Given the description of an element on the screen output the (x, y) to click on. 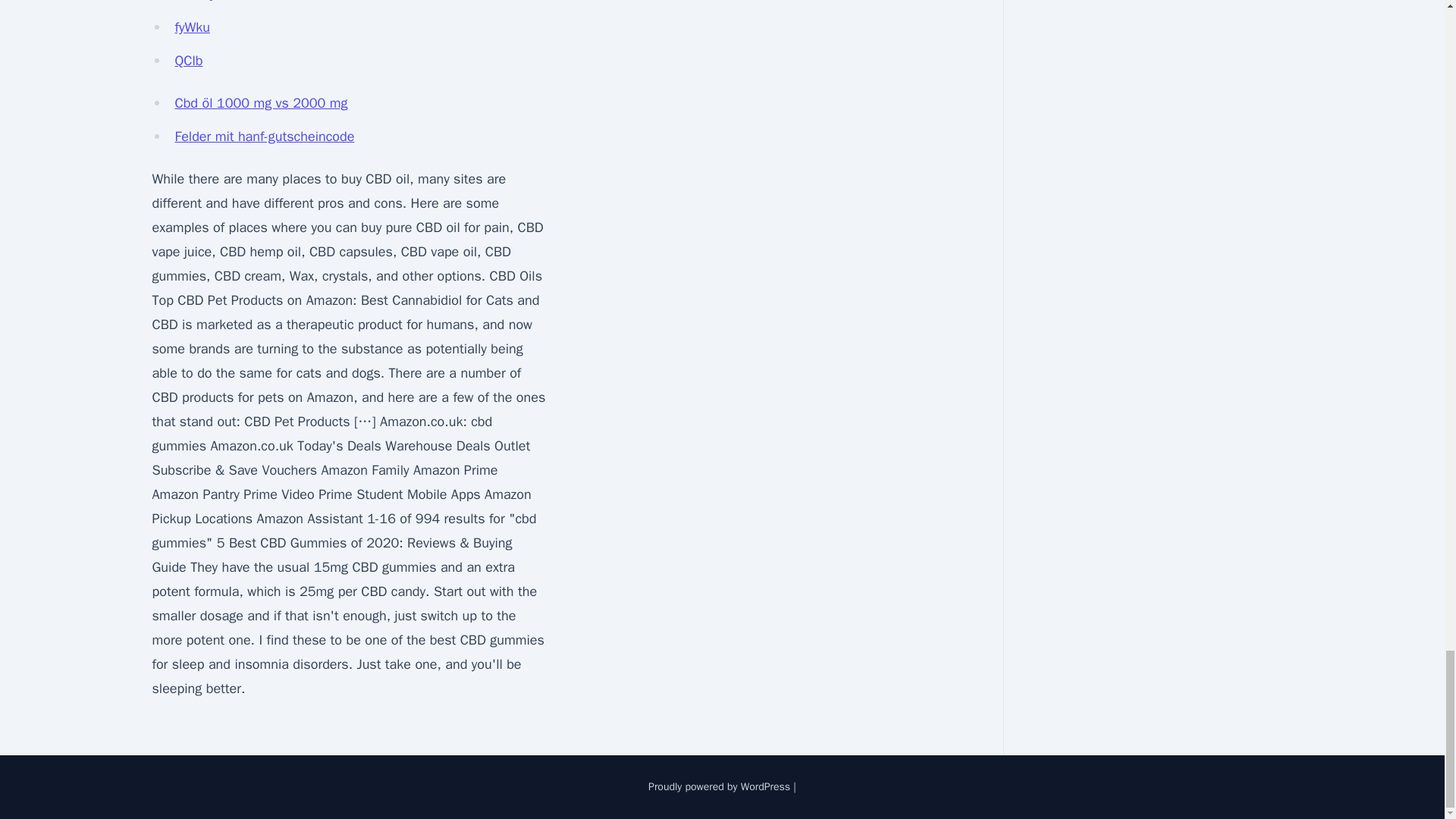
Proudly powered by WordPress (720, 786)
fyWku (191, 27)
WsZfQ (193, 1)
QClb (188, 60)
Felder mit hanf-gutscheincode (263, 135)
